Given the description of an element on the screen output the (x, y) to click on. 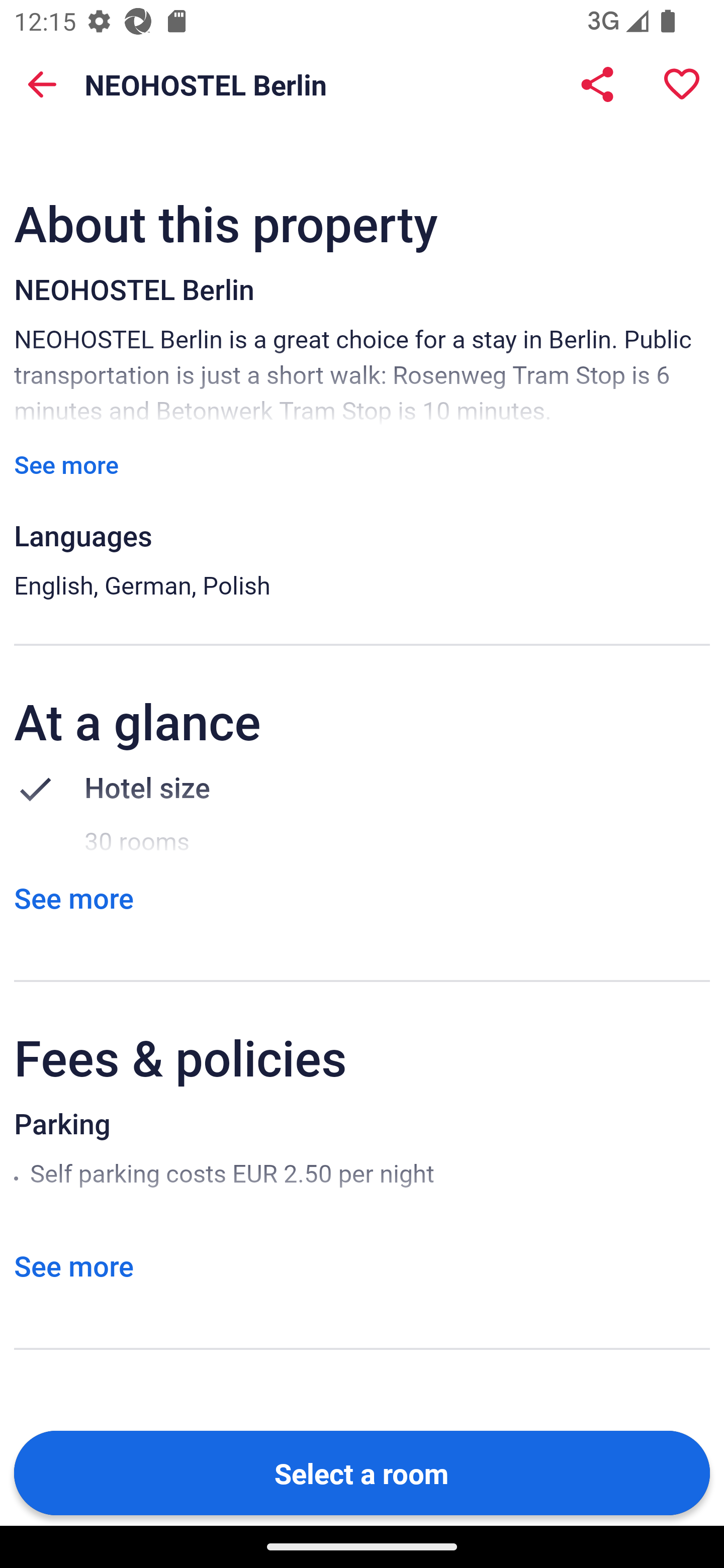
Example: Is breakfast free? (308, 66)
Back (42, 84)
Save property to a trip (681, 84)
Share NEOHOSTEL Berlin (597, 84)
See more See more Link (65, 463)
See more See more Link (73, 897)
See more See more policies Link (73, 1265)
Select a room Button Select a room (361, 1472)
